Given the description of an element on the screen output the (x, y) to click on. 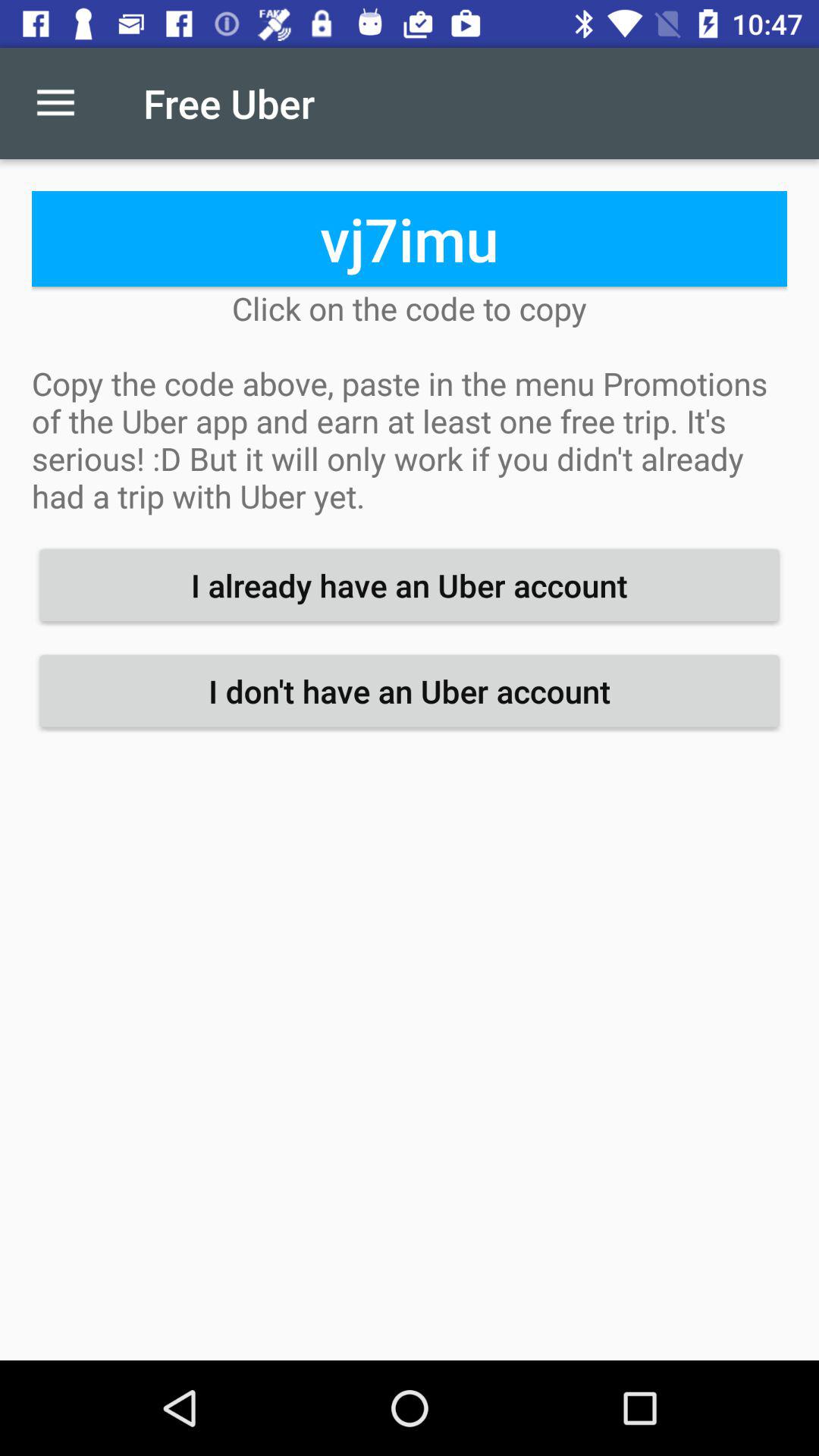
press item to the left of the free uber item (55, 103)
